Given the description of an element on the screen output the (x, y) to click on. 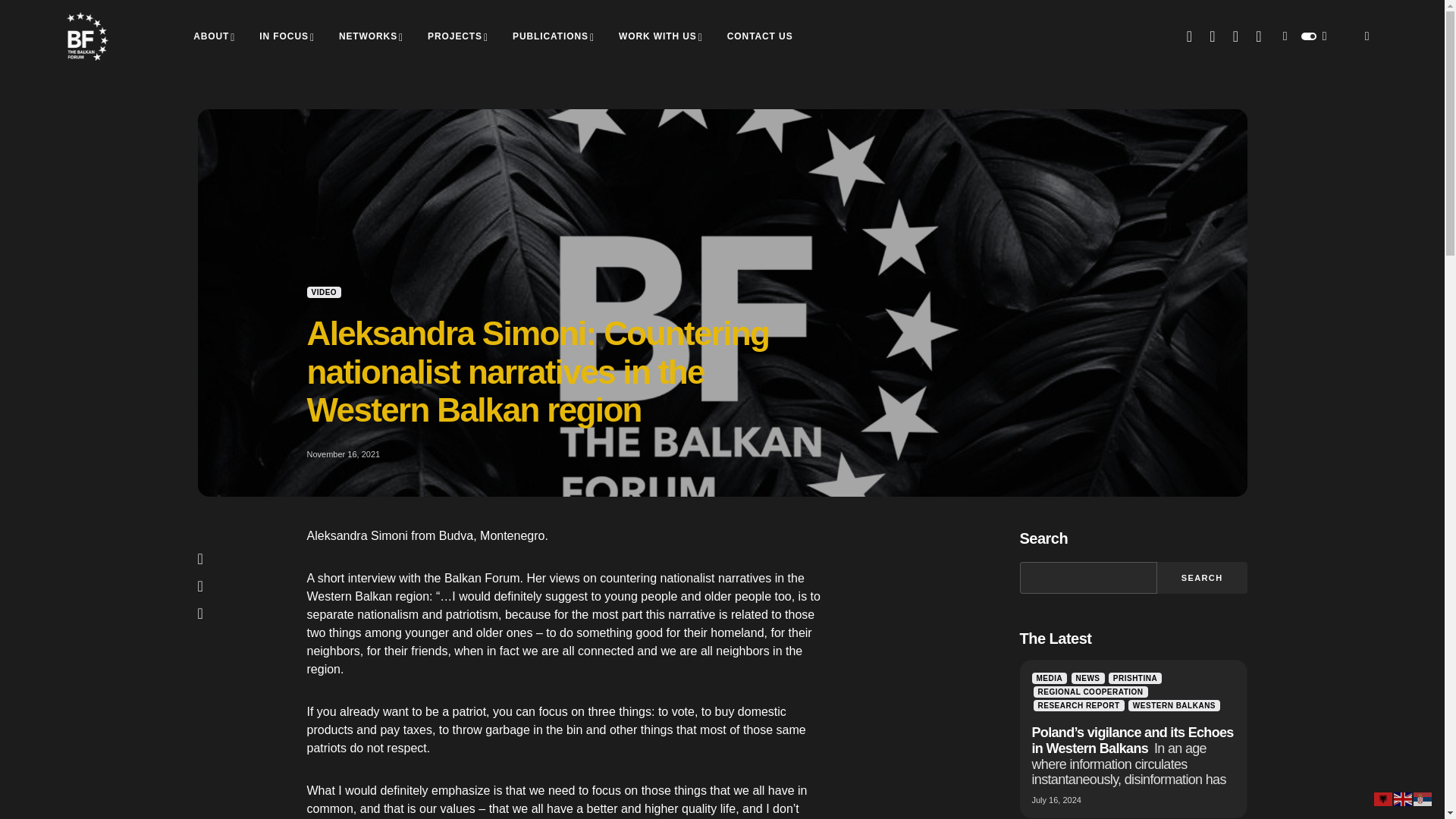
English (1403, 797)
Serbian (1422, 797)
Albanian (1383, 797)
